Given the description of an element on the screen output the (x, y) to click on. 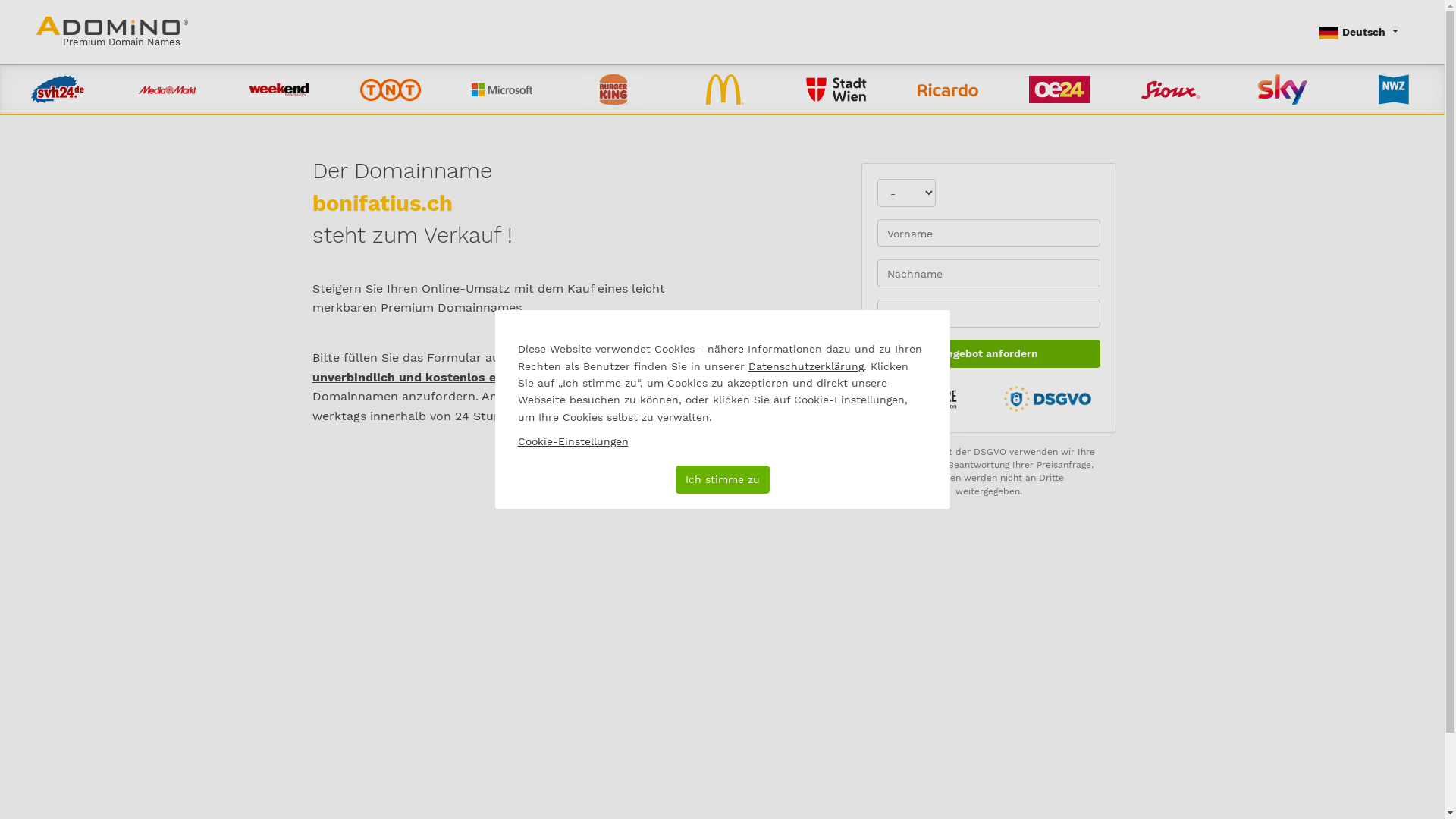
Cookie-Einstellungen Element type: text (572, 441)
Ich stimme zu Element type: text (721, 479)
Deutsch Element type: text (1358, 32)
Angebot anfordern Element type: text (989, 353)
Premium Domain Names Element type: text (112, 31)
